Given the description of an element on the screen output the (x, y) to click on. 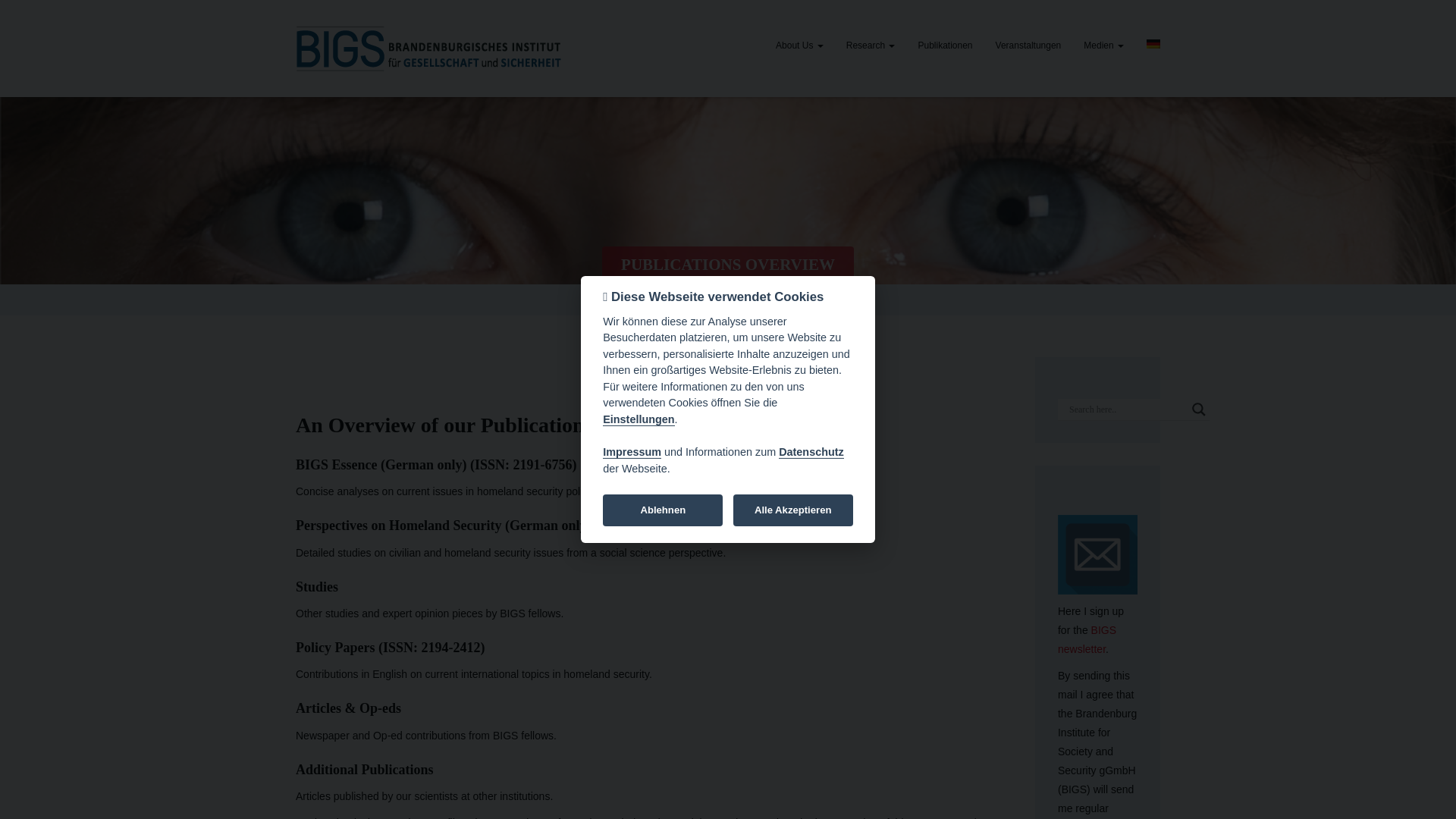
Publikationen (944, 46)
Medien (1103, 46)
Publikationen (944, 46)
Home (668, 299)
Research (870, 46)
Impressum (631, 451)
BIGS Potsdam (427, 48)
BIGS newsletter (1087, 639)
Veranstaltungen (1028, 46)
Medien (1103, 46)
About Us (799, 46)
About Us (799, 46)
Research (870, 46)
Einstellungen (638, 419)
